Given the description of an element on the screen output the (x, y) to click on. 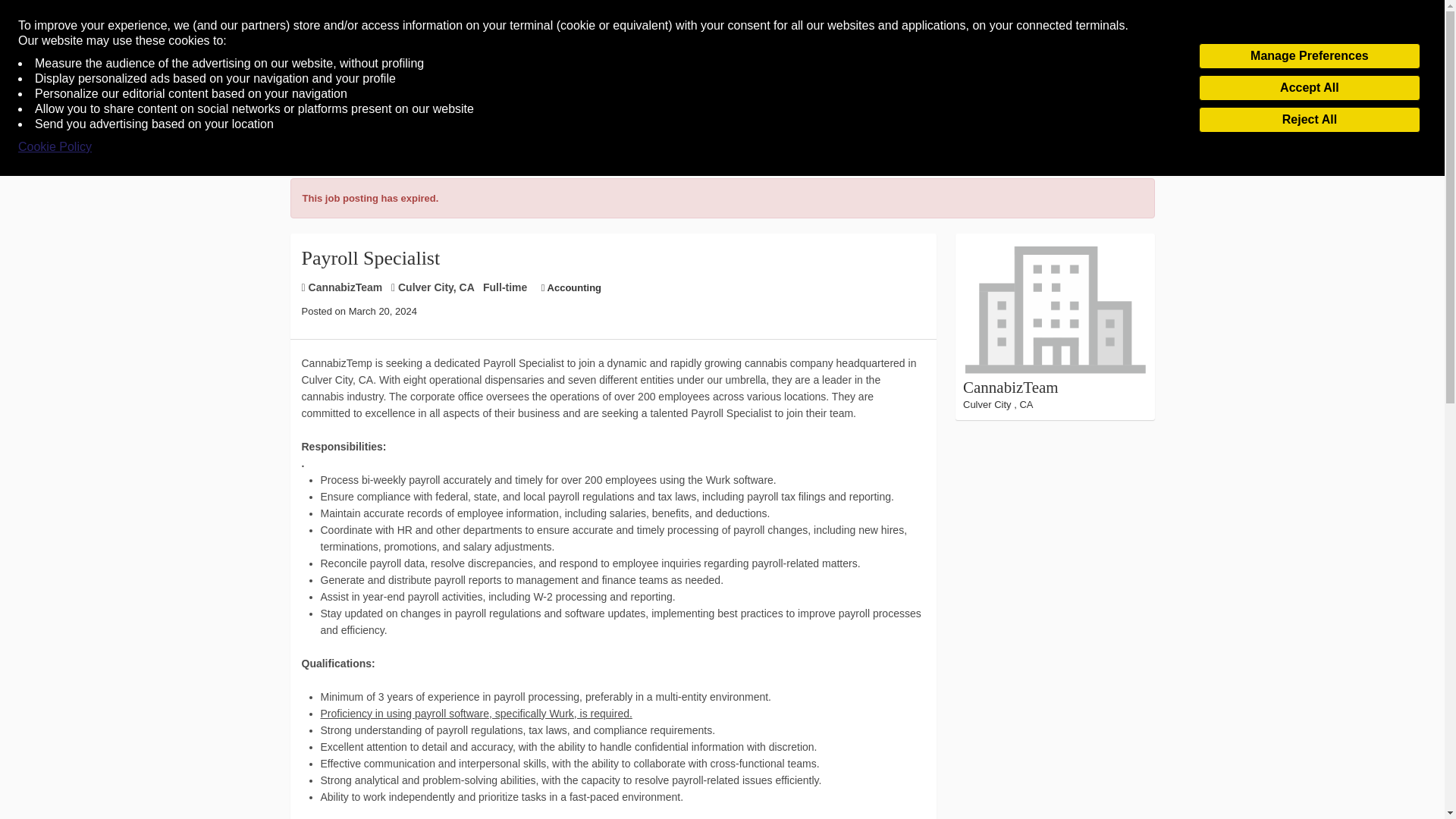
OregonLive.com (720, 87)
Manage Preferences (1309, 55)
Reject All (1309, 119)
Accept All (1309, 87)
OregonLive.com (720, 87)
Cookie Policy (54, 146)
Menu (40, 89)
